Given the description of an element on the screen output the (x, y) to click on. 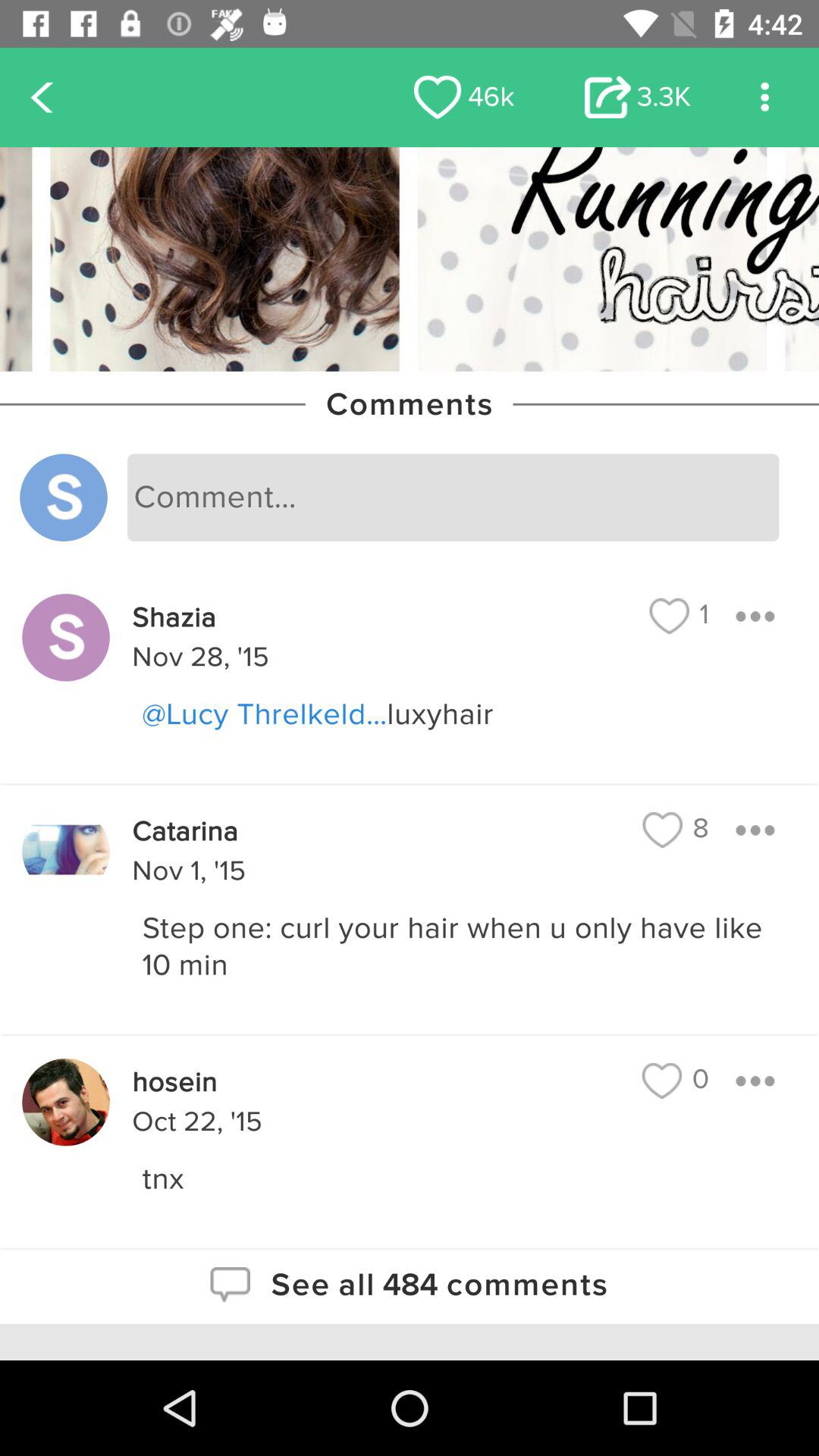
select the item below comments icon (453, 497)
